Given the description of an element on the screen output the (x, y) to click on. 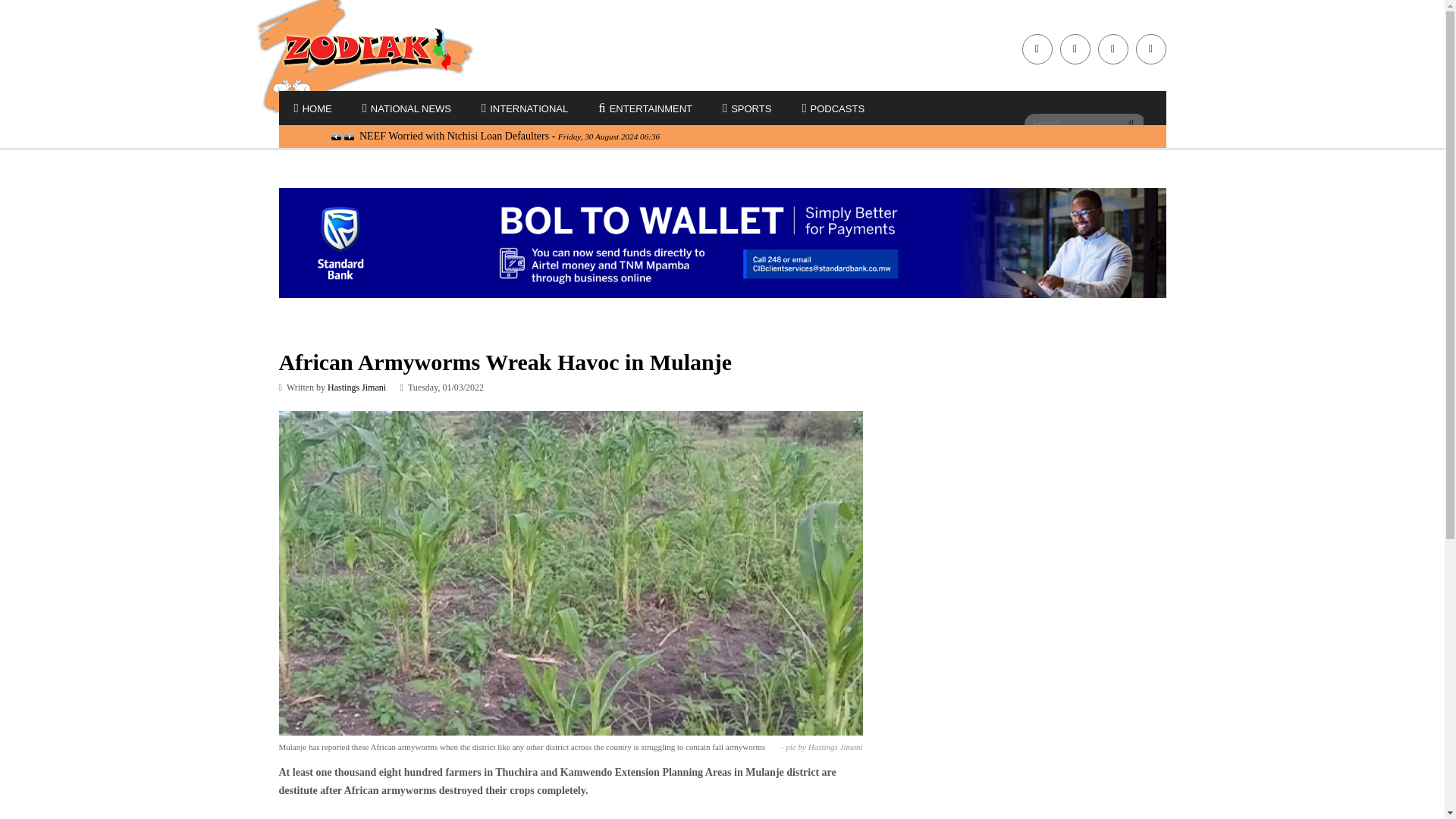
INTERNATIONAL (524, 108)
HOME (313, 108)
Hastings Jimani (356, 387)
SPORTS (746, 108)
NATIONAL NEWS (406, 108)
Go (1130, 123)
Standard Bank - BOL to Wallet (722, 243)
ZODIAK MALAWI ONLINE (381, 49)
ENTERTAINMENT (645, 108)
